Given the description of an element on the screen output the (x, y) to click on. 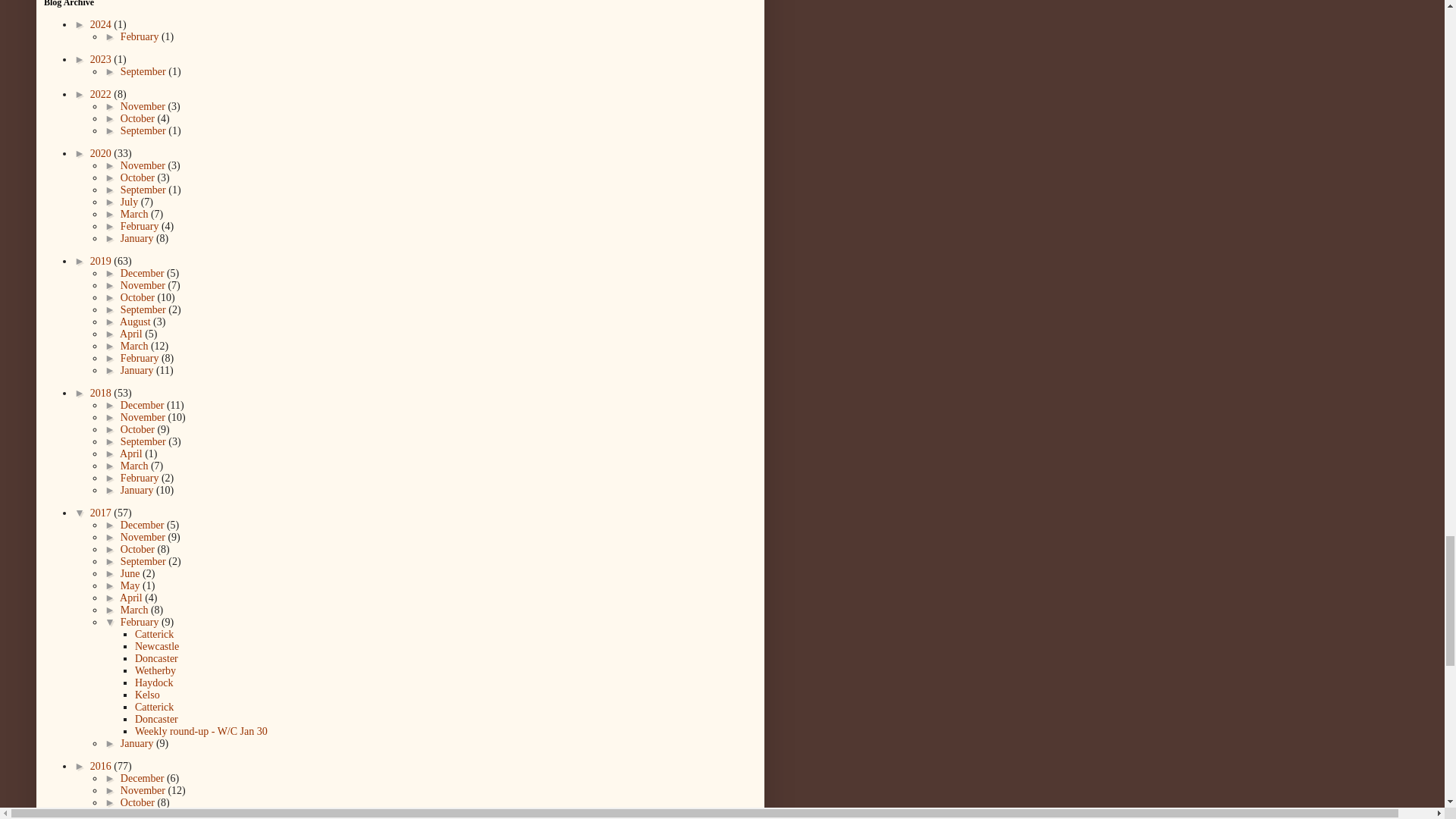
September (144, 130)
2023 (102, 59)
October (138, 118)
February (140, 36)
November (144, 165)
November (144, 106)
2020 (102, 153)
September (144, 71)
2024 (102, 24)
2022 (102, 93)
